Given the description of an element on the screen output the (x, y) to click on. 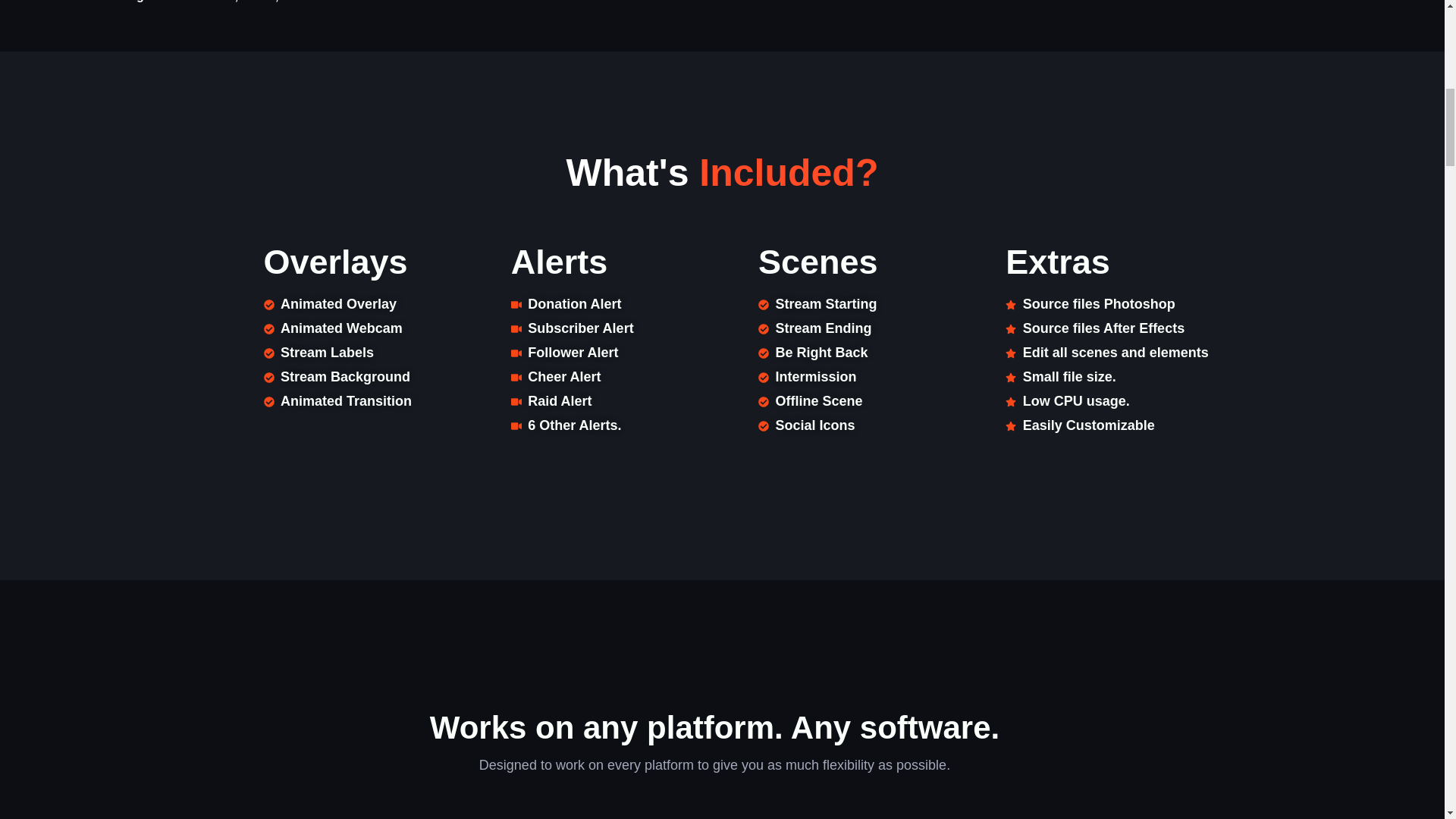
Black (219, 1)
Green (258, 1)
Scroll back to top (37, 675)
